Given the description of an element on the screen output the (x, y) to click on. 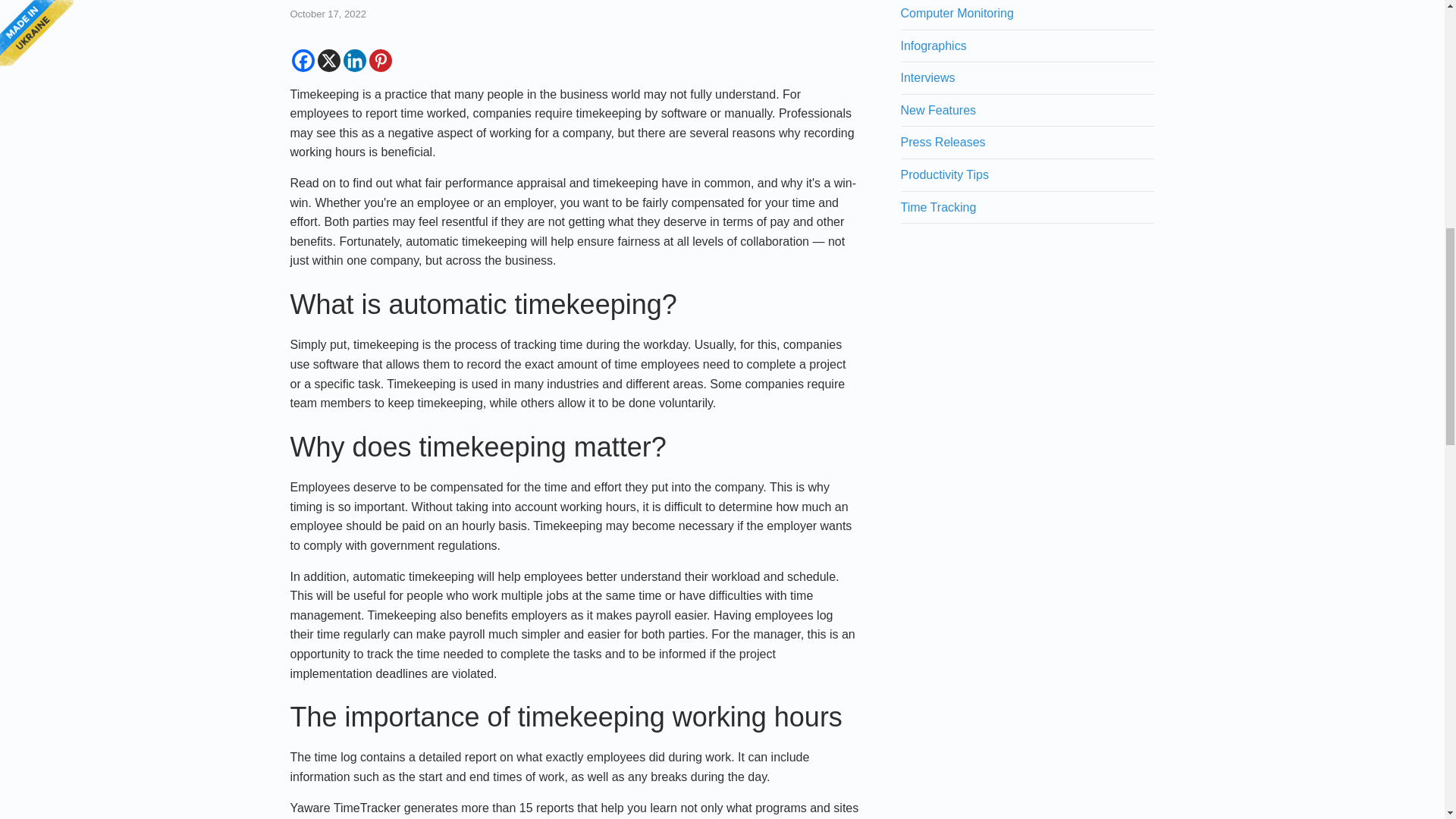
Linkedin (353, 60)
Pinterest (379, 60)
X (328, 60)
Facebook (302, 60)
